Given the description of an element on the screen output the (x, y) to click on. 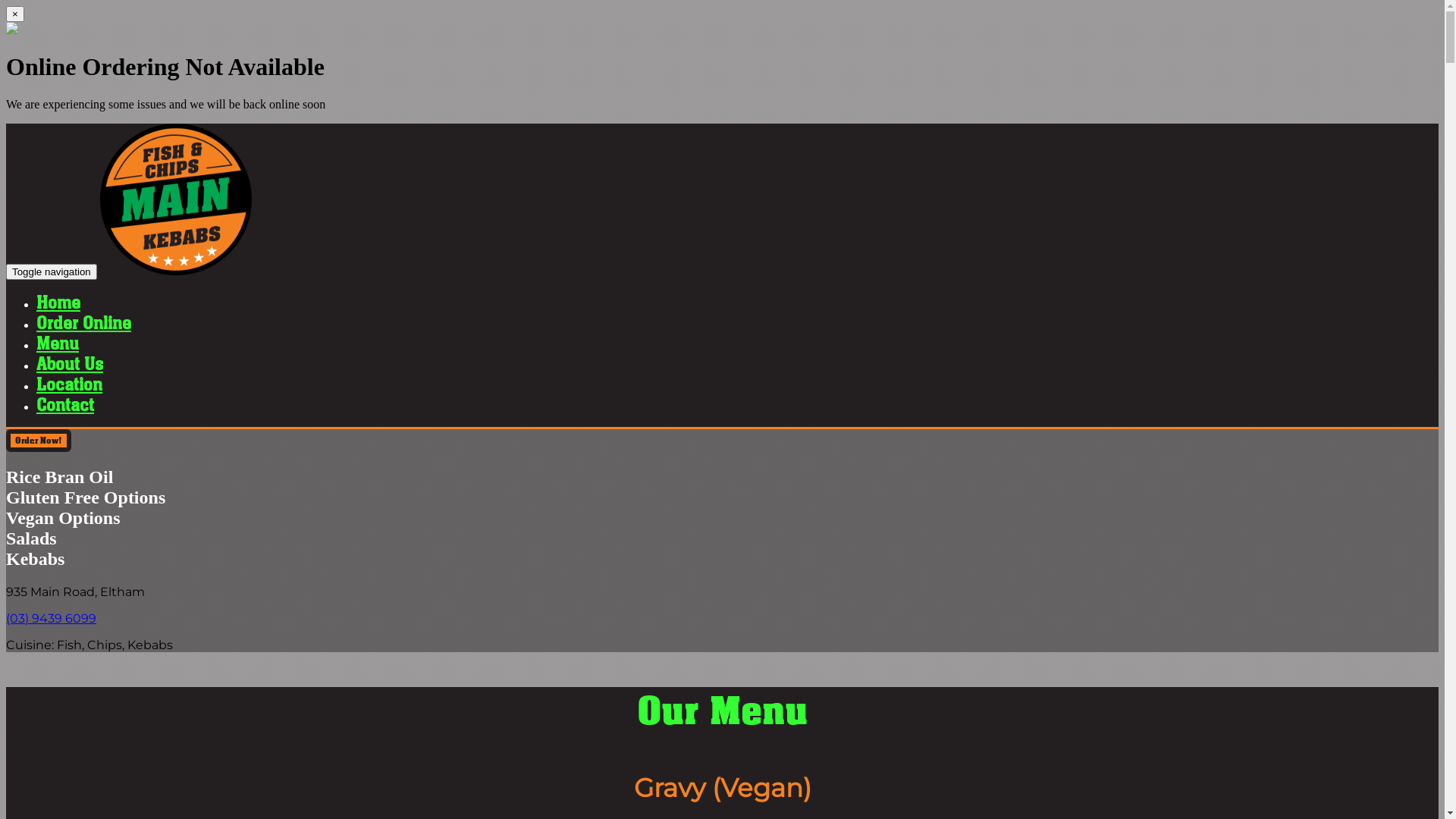
(03) 9439 6099 Element type: text (51, 618)
Order Now! Element type: text (38, 440)
About Us Element type: text (69, 363)
Order Now! Element type: text (38, 439)
Home Element type: text (58, 301)
Location Element type: text (69, 383)
Toggle navigation Element type: text (51, 271)
Menu Element type: text (57, 342)
Contact Element type: text (65, 404)
Order Online Element type: text (83, 322)
